Given the description of an element on the screen output the (x, y) to click on. 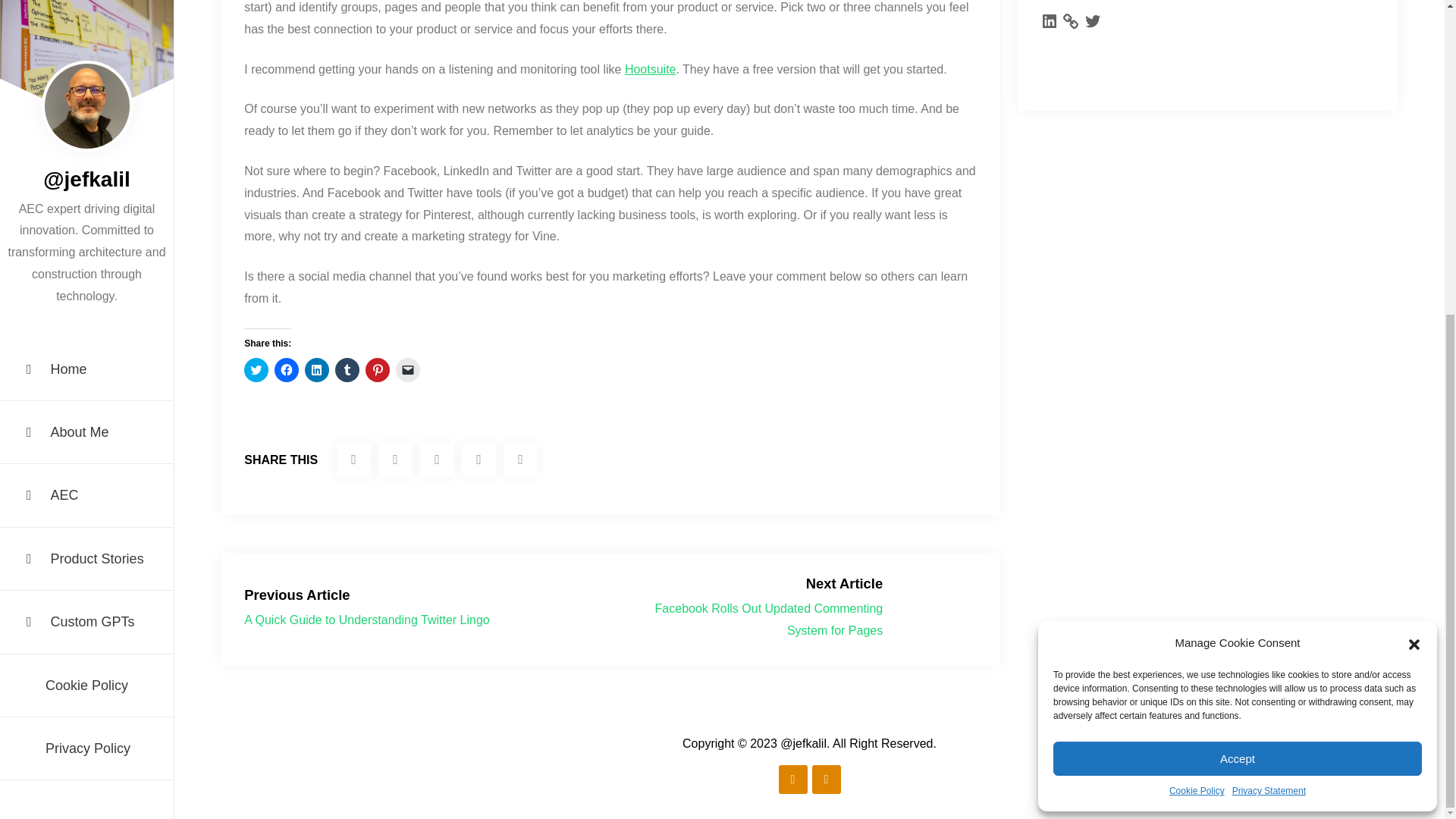
Privacy Policy (86, 244)
Click to share on Pinterest (377, 369)
Share on Twitter (353, 459)
Accept (1237, 254)
Click to email a link to a friend (408, 369)
Cookie Policy (86, 181)
Custom GPTs (86, 117)
Share on Facebook (395, 459)
Share on Pinterest (520, 459)
AEC (86, 11)
Share on LinkedIn (478, 459)
Cookie Policy (1196, 288)
Click to share on Twitter (255, 369)
Click to share on Tumblr (346, 369)
Product Stories (86, 55)
